Given the description of an element on the screen output the (x, y) to click on. 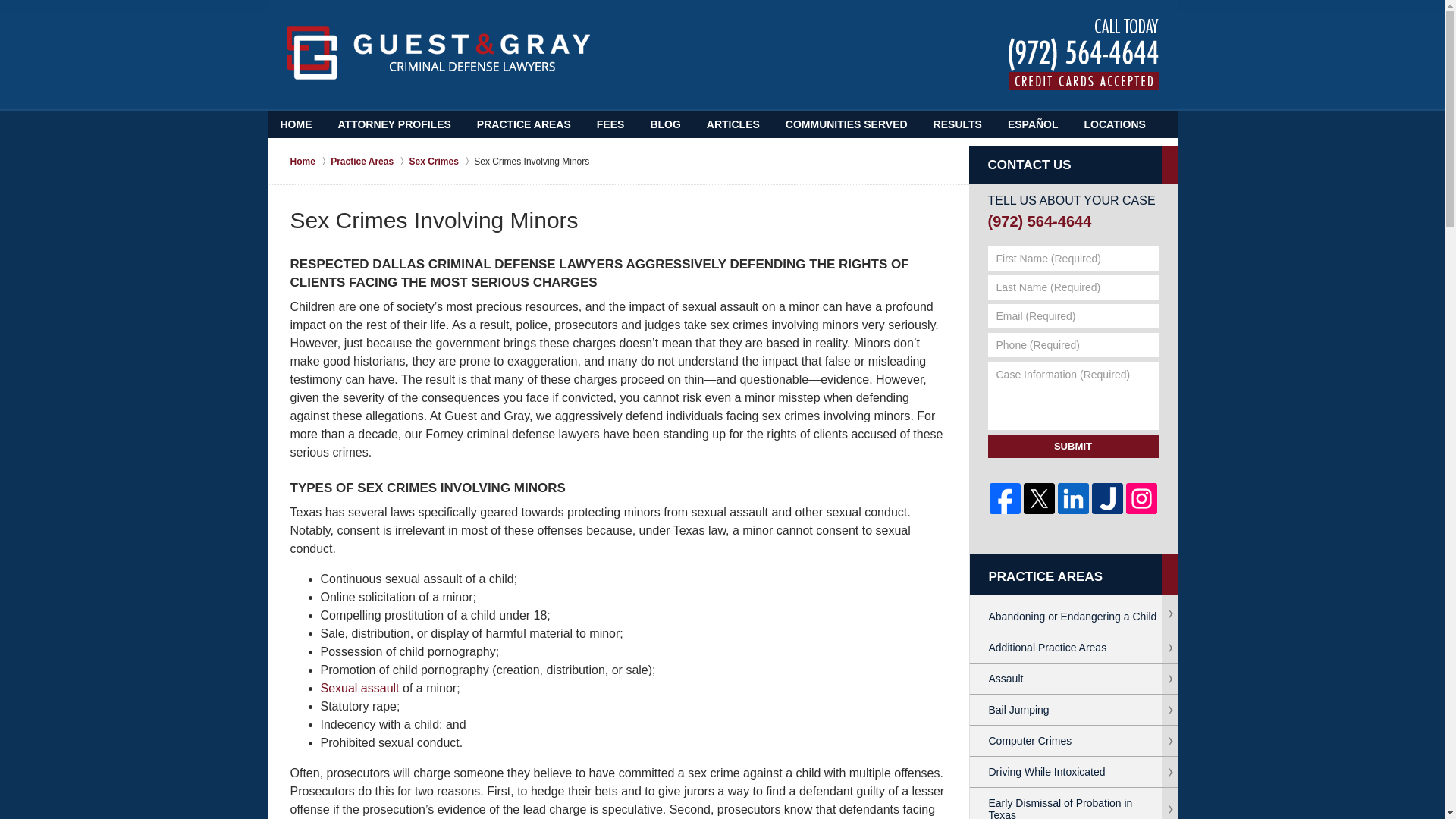
PRACTICE AREAS (1073, 577)
Home (309, 161)
ARTICLES (733, 124)
HOME (295, 124)
FEES (610, 124)
Sex Crimes (441, 161)
PRACTICE AREAS (523, 124)
BLOG (665, 124)
SUBMIT (1072, 445)
RESULTS (957, 124)
Sexual assault (359, 687)
Practice Areas (369, 161)
Additional Practice Areas (1072, 647)
Dallas, Texas Criminal Defense Lawyer Robert Guest Home (437, 52)
CONTACT US (1072, 165)
